Given the description of an element on the screen output the (x, y) to click on. 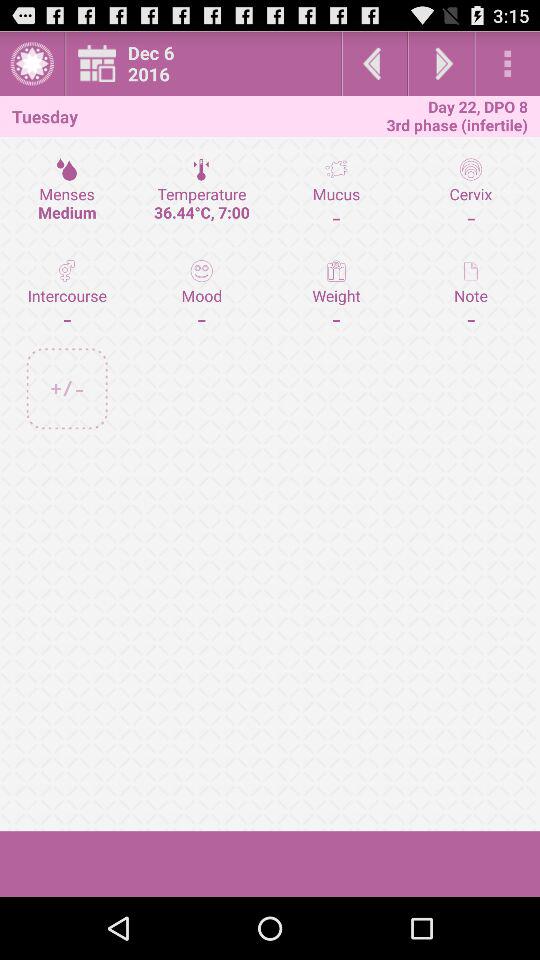
turn off the icon to the left of temperature 36 44 (67, 294)
